Given the description of an element on the screen output the (x, y) to click on. 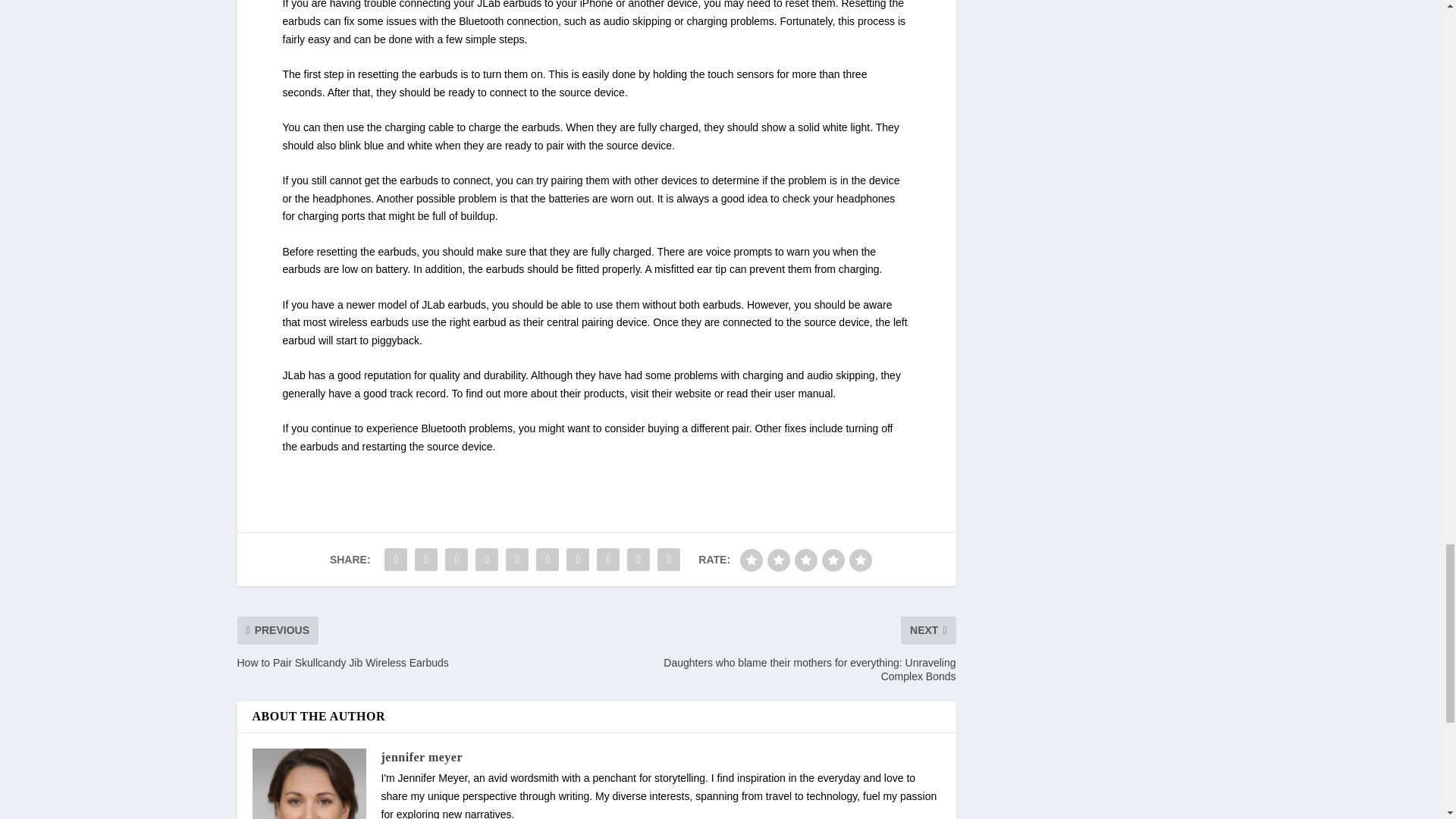
Share "How to Connect JLab Earbuds to iPhone" via Email (638, 559)
Share "How to Connect JLab Earbuds to iPhone" via Facebook (395, 559)
Share "How to Connect JLab Earbuds to iPhone" via Twitter (425, 559)
Share "How to Connect JLab Earbuds to iPhone" via LinkedIn (547, 559)
Share "How to Connect JLab Earbuds to iPhone" via Buffer (577, 559)
Share "How to Connect JLab Earbuds to iPhone" via Tumblr (486, 559)
Share "How to Connect JLab Earbuds to iPhone" via Pinterest (517, 559)
